Given the description of an element on the screen output the (x, y) to click on. 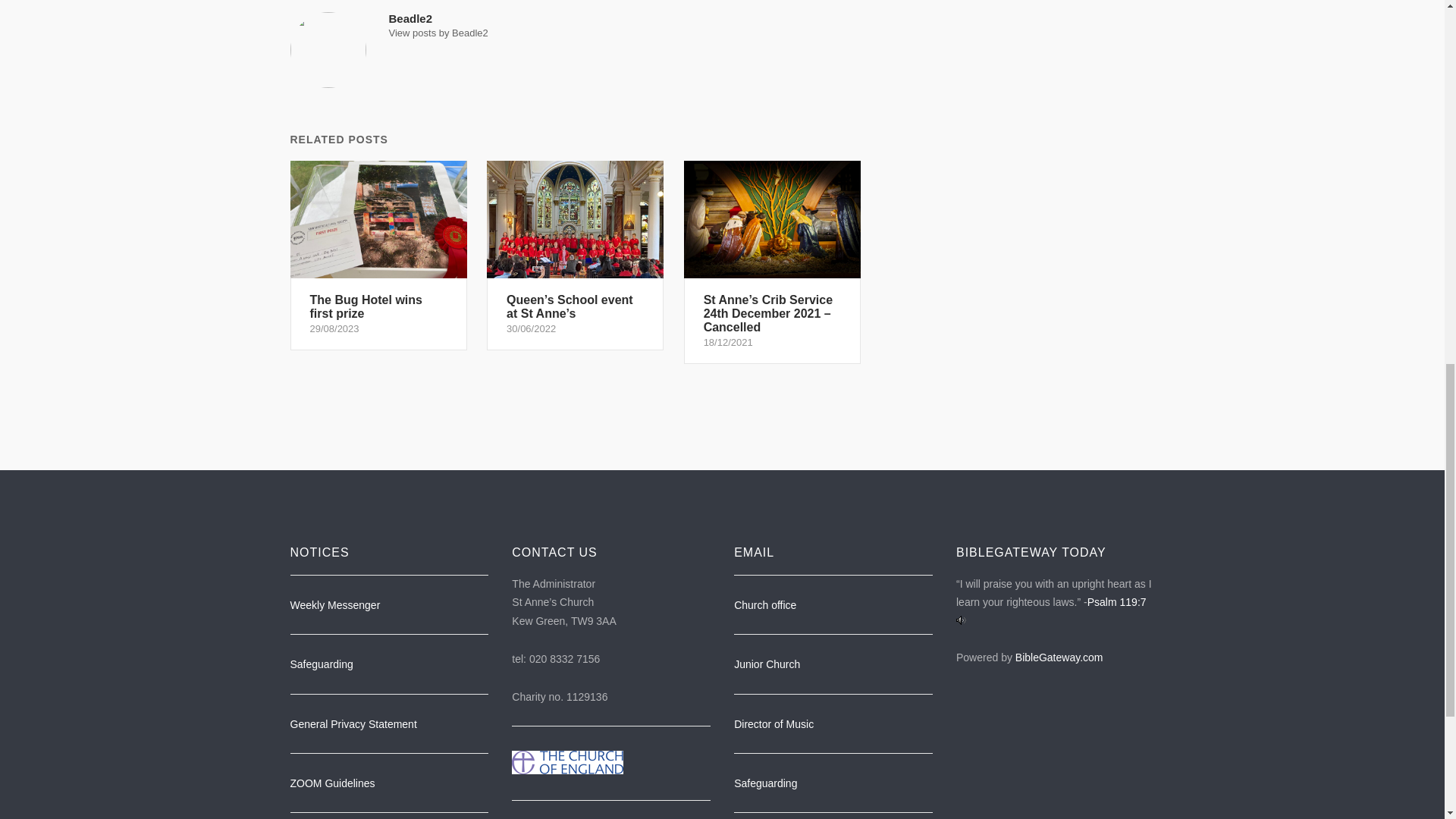
Listen to chapter (961, 621)
The Bug Hotel wins first prize (377, 255)
